Given the description of an element on the screen output the (x, y) to click on. 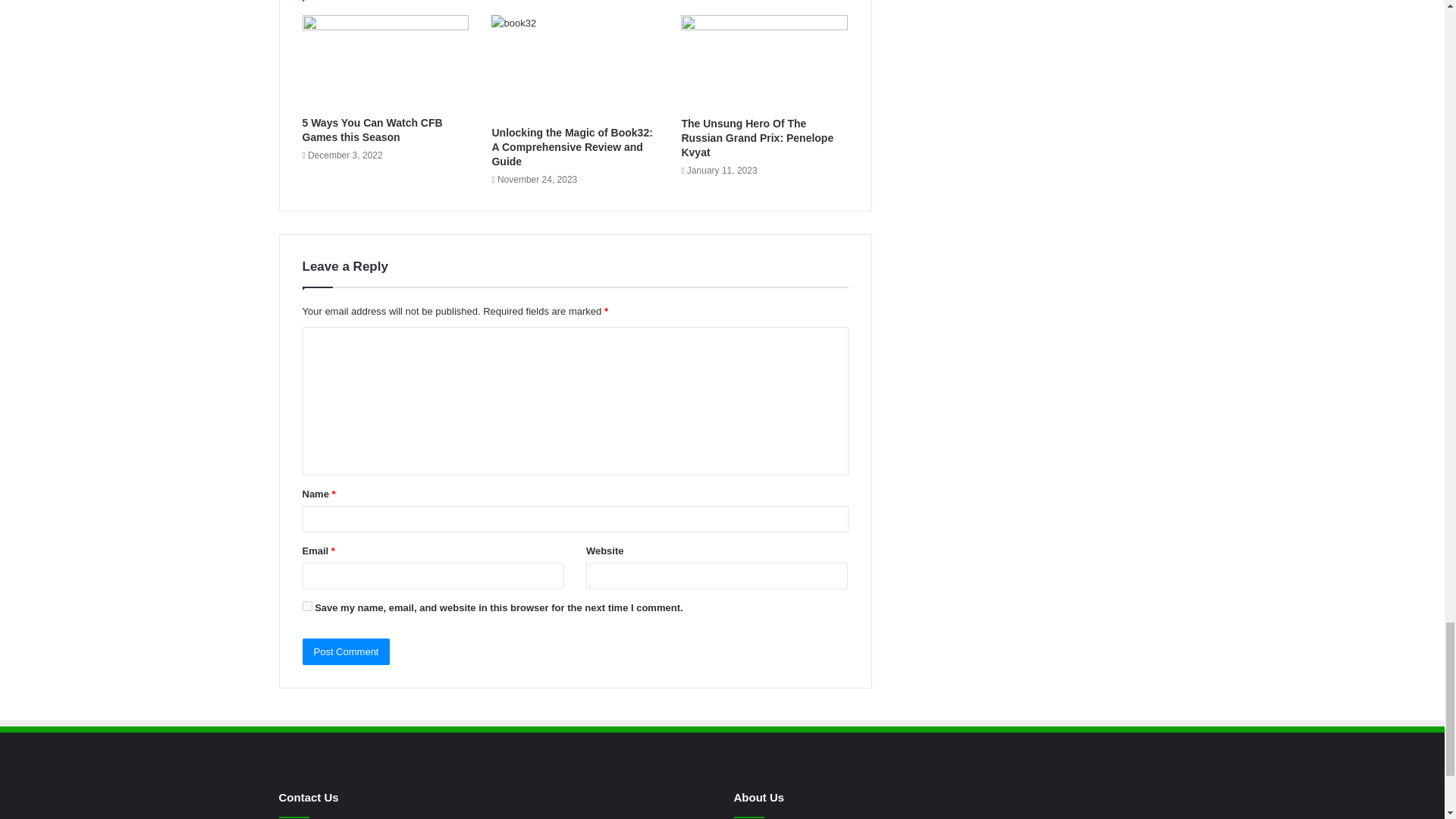
Post Comment (345, 651)
yes (306, 605)
